Given the description of an element on the screen output the (x, y) to click on. 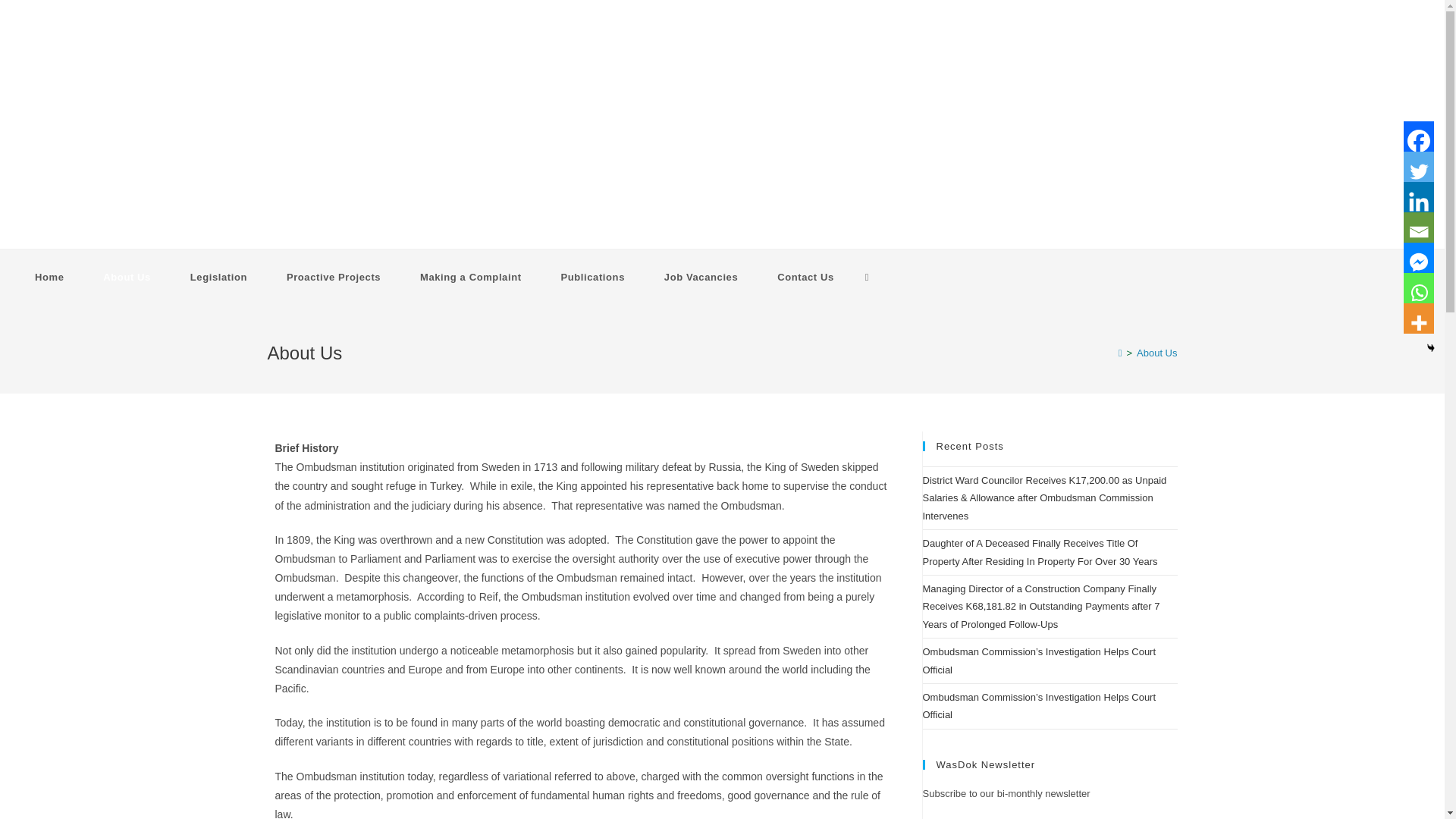
Hide (1431, 347)
Home (48, 277)
Proactive Projects (333, 277)
Email (1418, 227)
Publications (593, 277)
Facebook (1418, 136)
Job Vacancies (701, 277)
Contact Us (805, 277)
More (1418, 318)
Twitter (1418, 166)
Making a Complaint (470, 277)
Legislation (218, 277)
Whatsapp (1418, 287)
Linkedin (1418, 196)
About Us (126, 277)
